Given the description of an element on the screen output the (x, y) to click on. 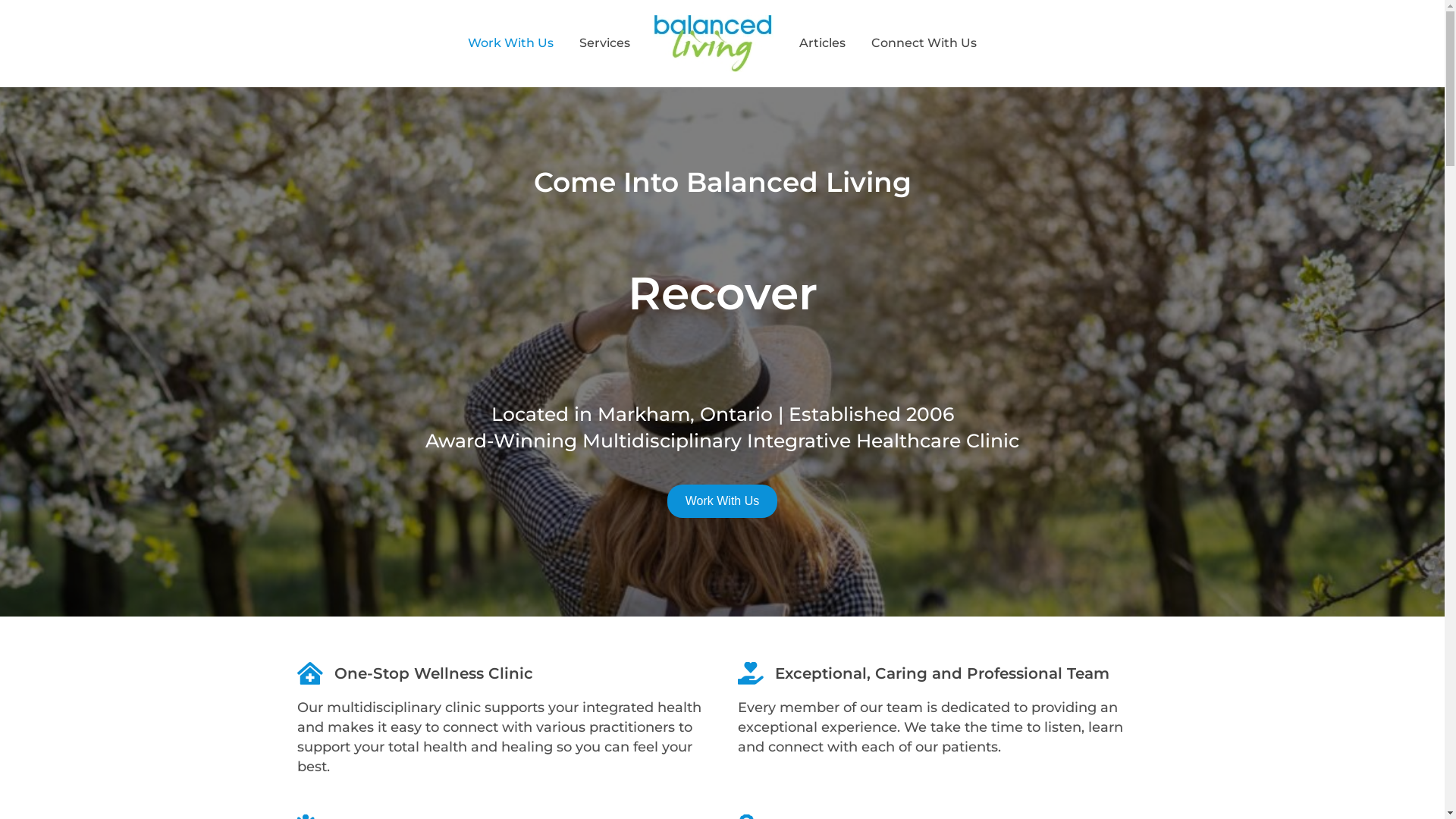
Services Element type: text (604, 42)
Connect With Us Element type: text (923, 42)
Work With Us Element type: text (722, 500)
Articles Element type: text (821, 42)
Work With Us Element type: text (510, 42)
